Given the description of an element on the screen output the (x, y) to click on. 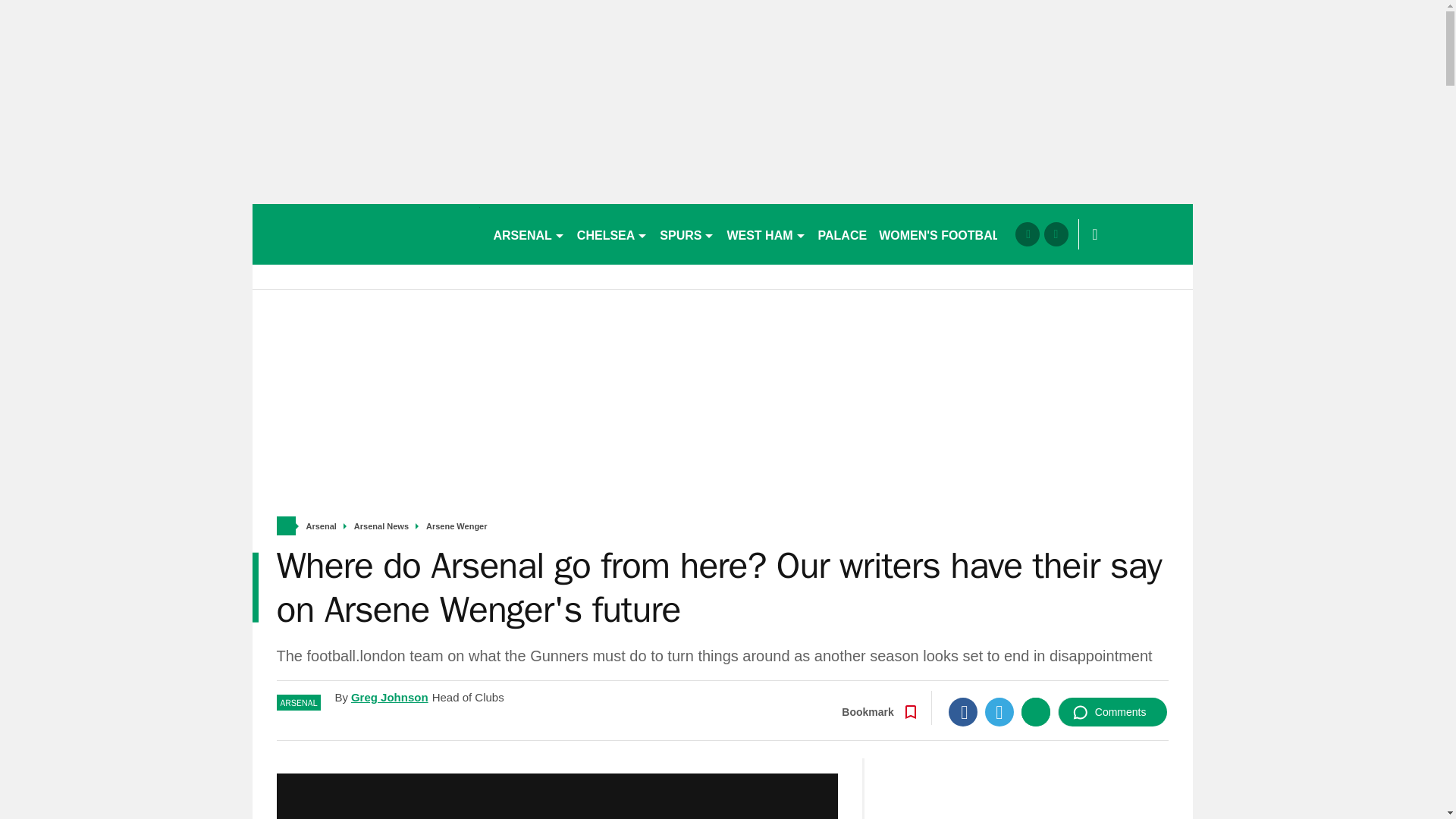
footballlondon (365, 233)
facebook (1026, 233)
Twitter (999, 711)
ARSENAL (528, 233)
CHELSEA (611, 233)
SPURS (686, 233)
Comments (1112, 711)
PALACE (842, 233)
WEST HAM (765, 233)
WOMEN'S FOOTBALL (942, 233)
Facebook (962, 711)
twitter (1055, 233)
